Given the description of an element on the screen output the (x, y) to click on. 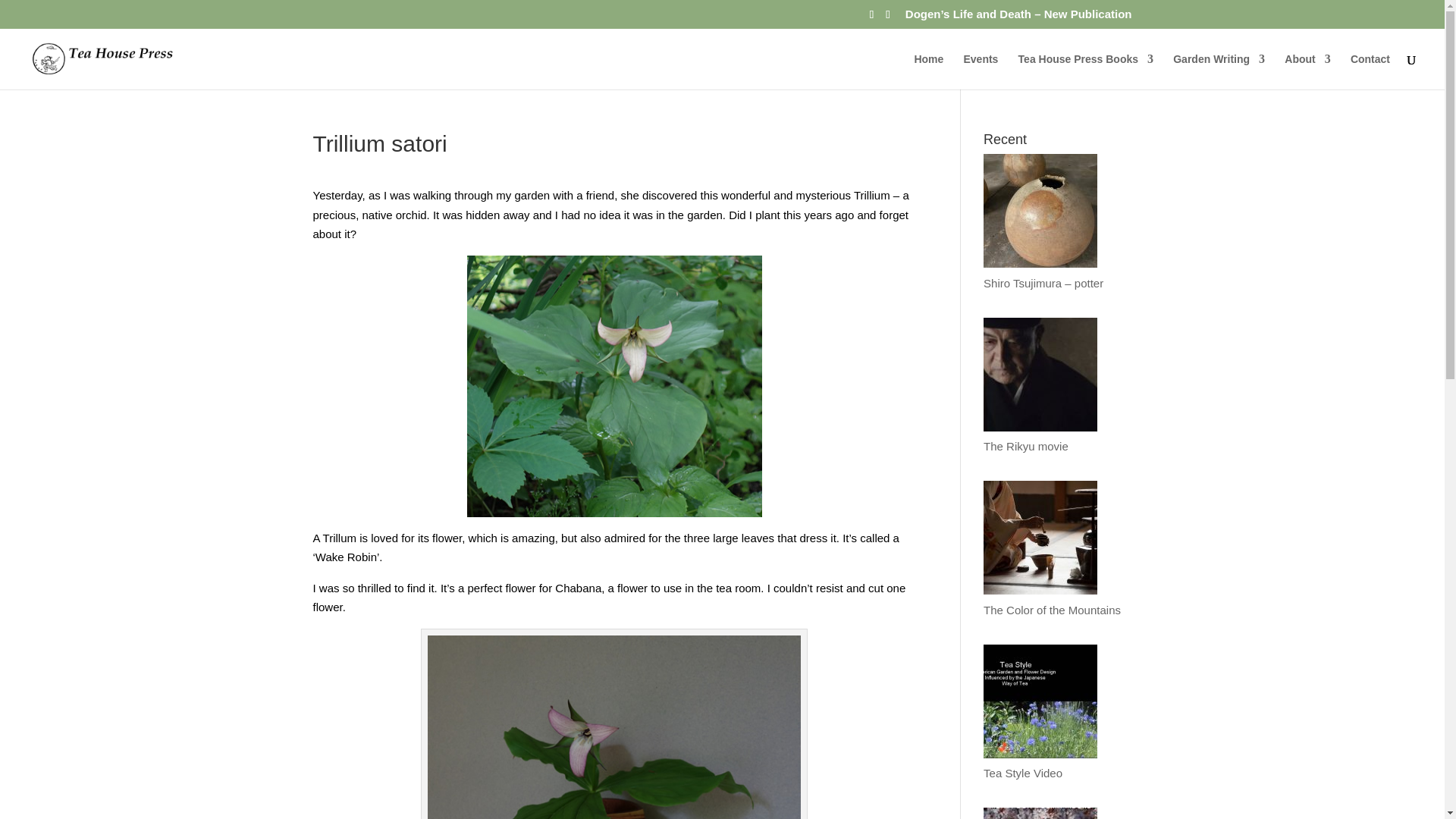
Events (979, 70)
About (1307, 70)
The Color of the Mountains (1057, 601)
Garden Writing (1219, 70)
Tea Style Video (1057, 764)
The Rikyu movie (1057, 437)
Contact (1370, 70)
Tea House Press Books (1085, 70)
